Given the description of an element on the screen output the (x, y) to click on. 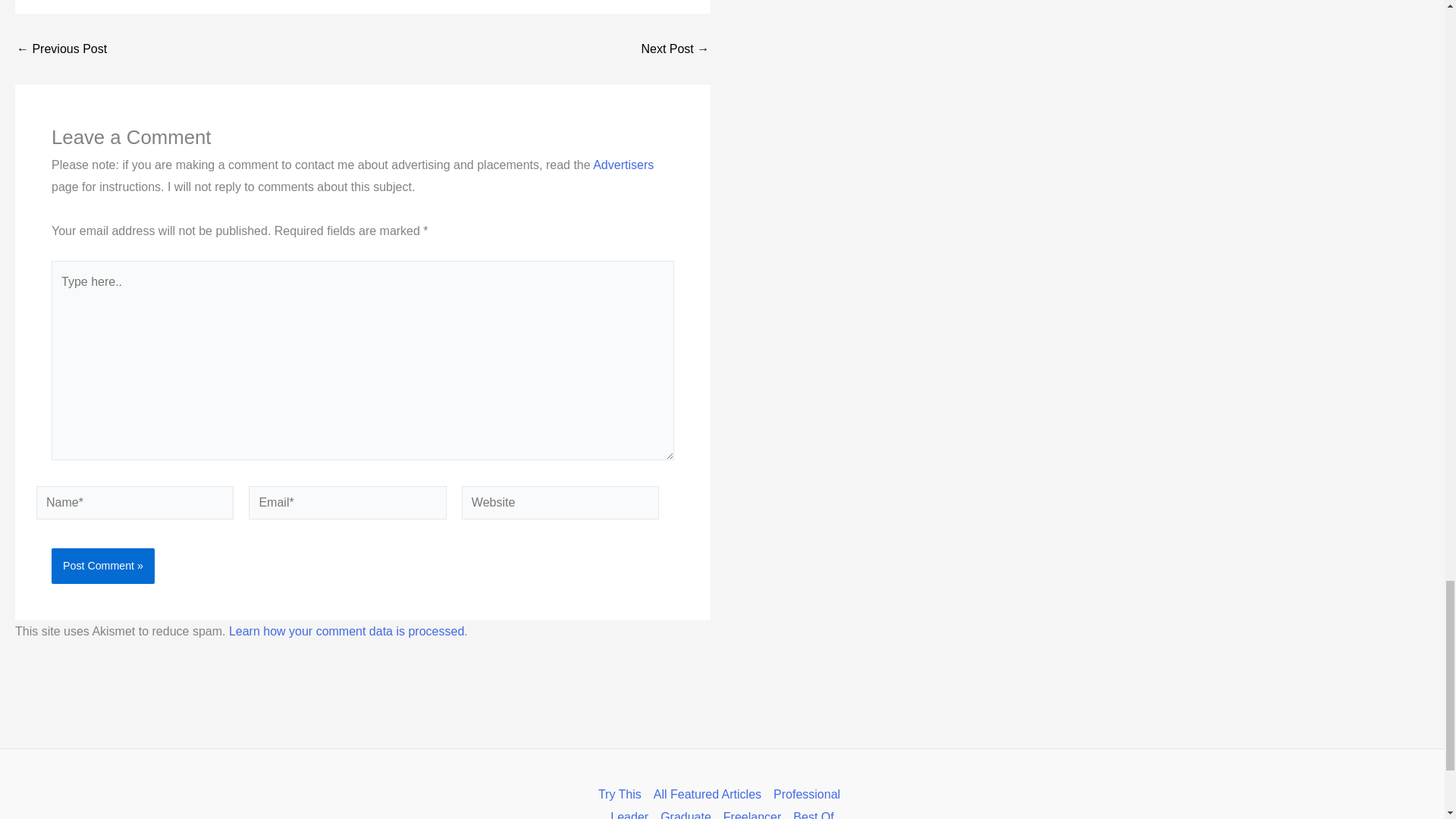
How to deal with Rescue Dog Bite or Attack! (61, 49)
Learn how your comment data is processed (346, 631)
Advertisers (622, 164)
How Easy Really Is It To Start An Online Business? (674, 49)
